Given the description of an element on the screen output the (x, y) to click on. 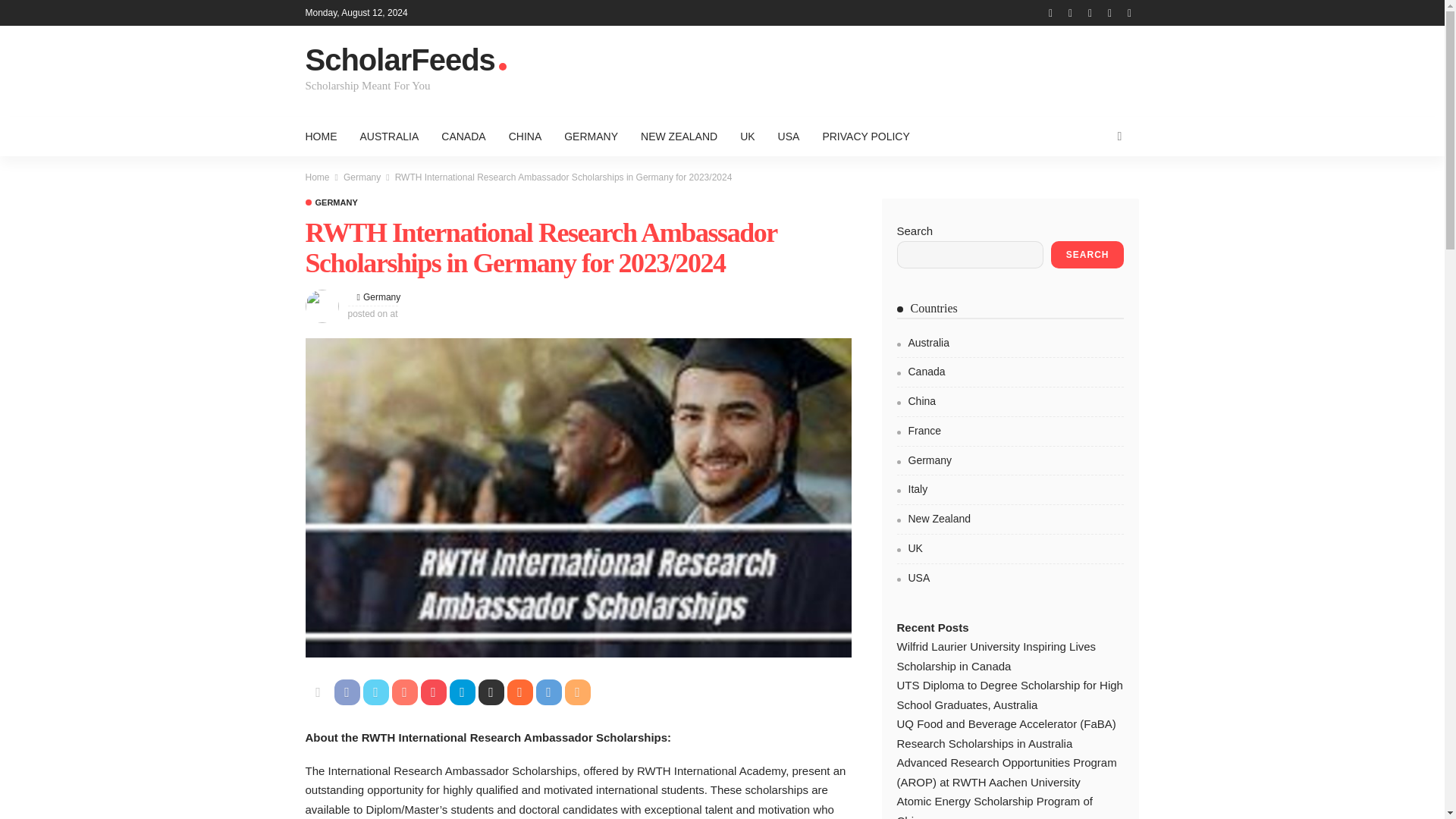
Germany (330, 203)
Germany (381, 296)
search (1118, 136)
AUSTRALIA (389, 136)
GERMANY (330, 203)
ScholarFeeds (418, 60)
CANADA (462, 136)
PRIVACY POLICY (865, 136)
GERMANY (590, 136)
Germany (381, 296)
